Given the description of an element on the screen output the (x, y) to click on. 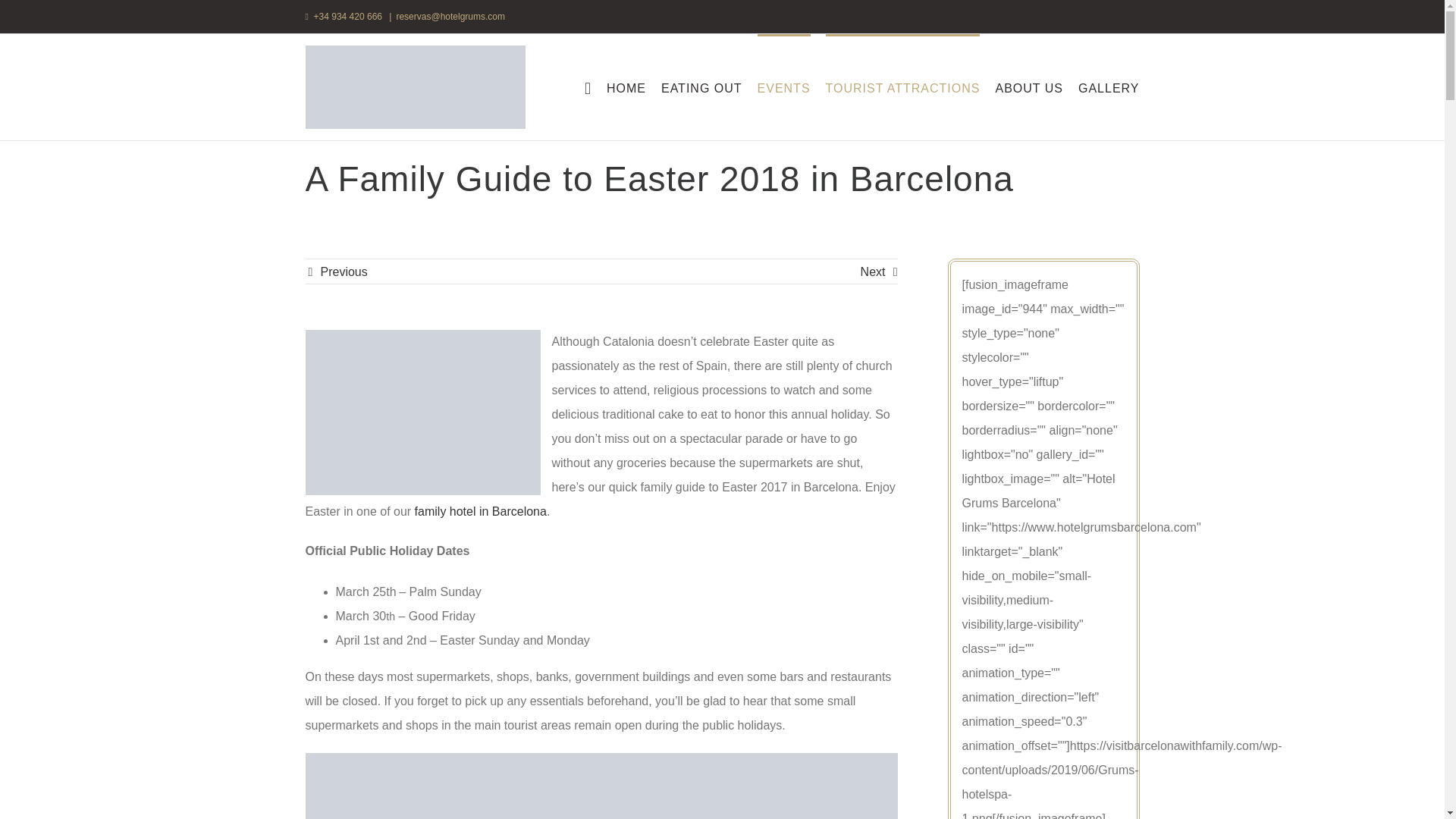
Next (872, 272)
Previous (343, 272)
TOURIST ATTRACTIONS (902, 87)
family hotel in Barcelona (480, 511)
